Given the description of an element on the screen output the (x, y) to click on. 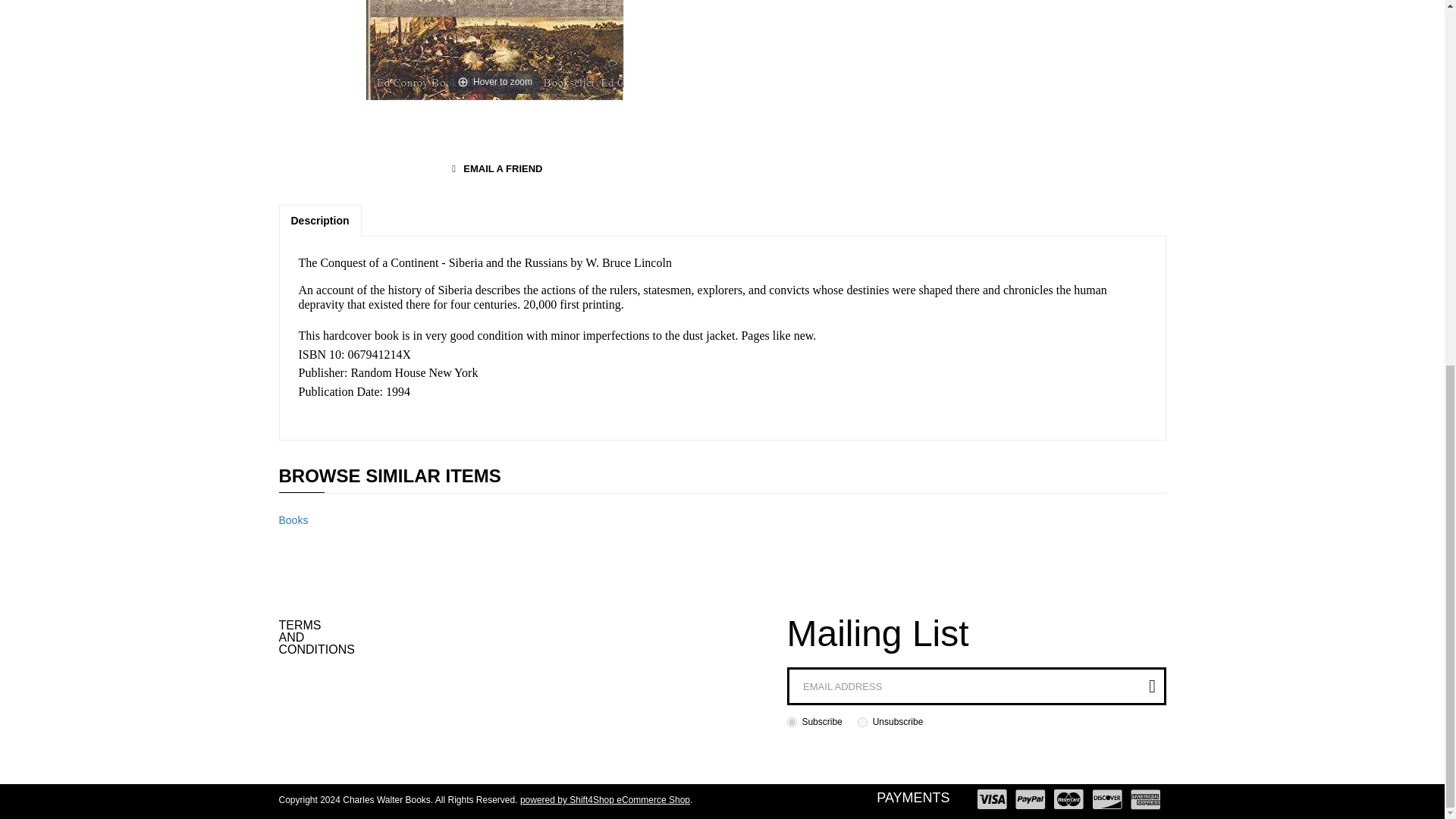
0 (862, 722)
1 (791, 722)
